Given the description of an element on the screen output the (x, y) to click on. 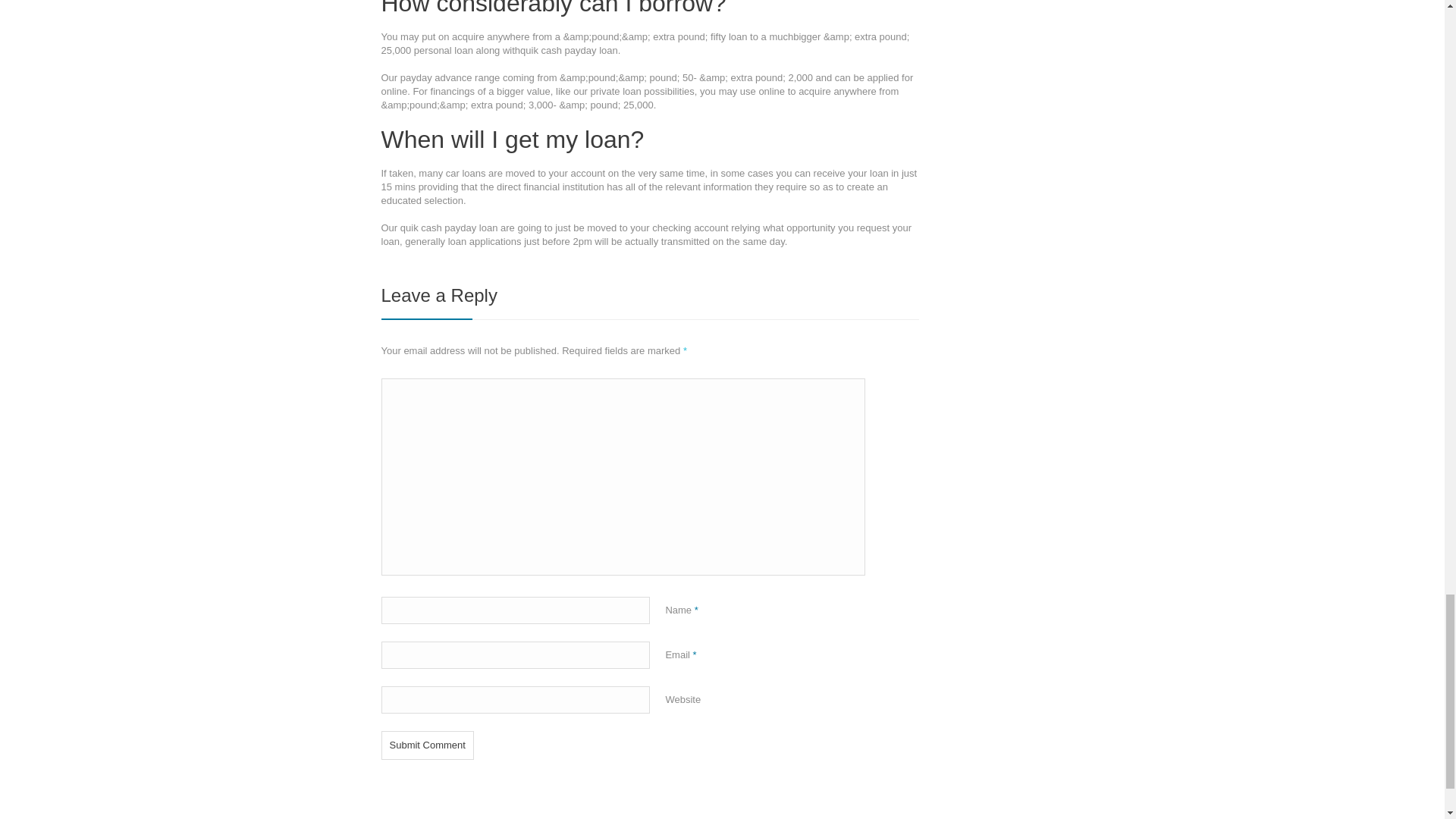
Submit Comment (426, 745)
Submit Comment (426, 745)
